Given the description of an element on the screen output the (x, y) to click on. 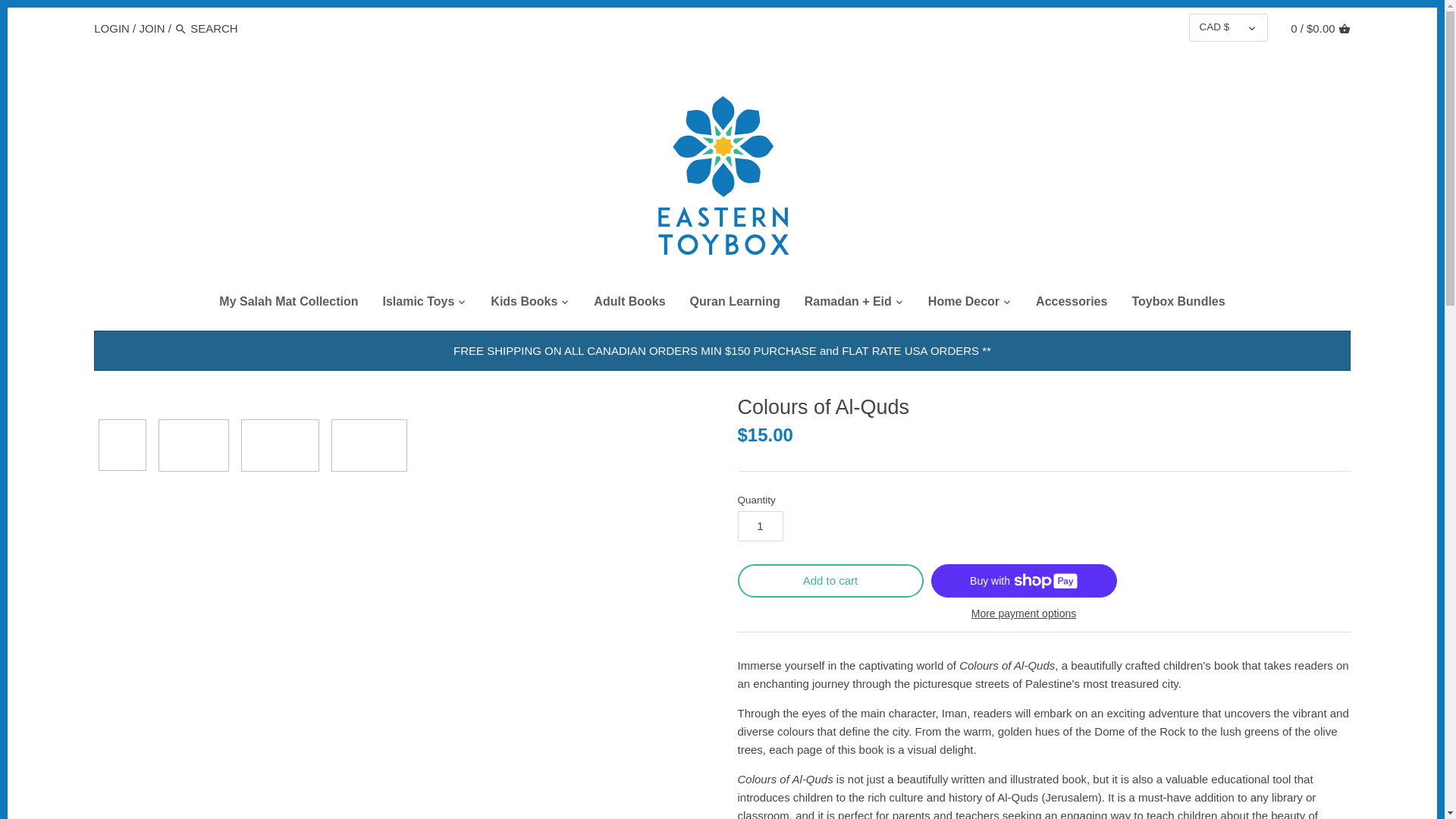
My Salah Mat Collection (287, 304)
Home Decor (963, 304)
Toybox Bundles (1177, 304)
Quran Learning (735, 304)
Accessories (1071, 304)
Adult Books (628, 304)
1 (759, 526)
Islamic Toys (417, 304)
Search (180, 29)
CART (1344, 28)
Kids Books (524, 304)
LOGIN (111, 27)
JOIN (151, 27)
